Given the description of an element on the screen output the (x, y) to click on. 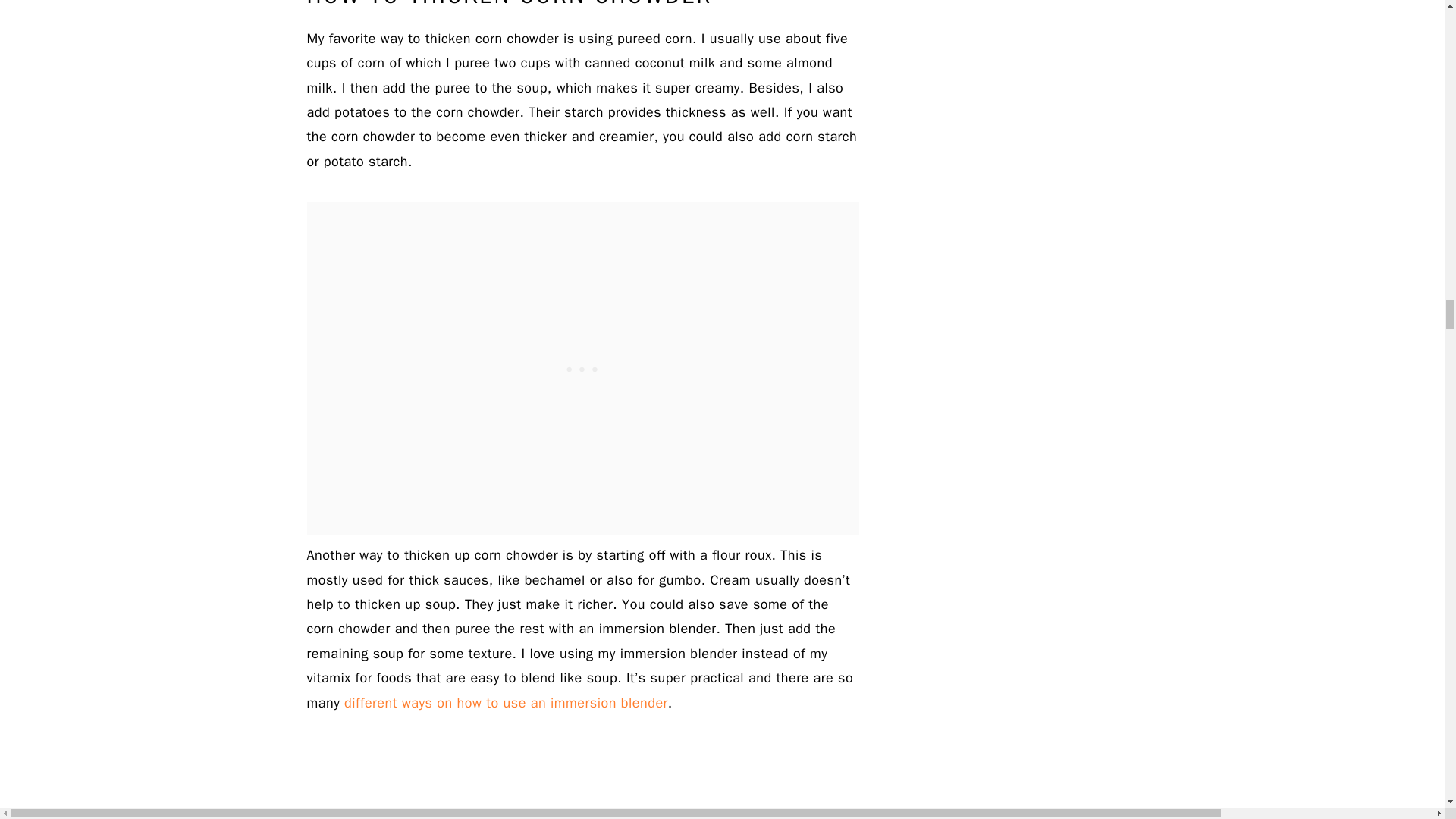
different ways on how to use an immersion blender (505, 702)
